Given the description of an element on the screen output the (x, y) to click on. 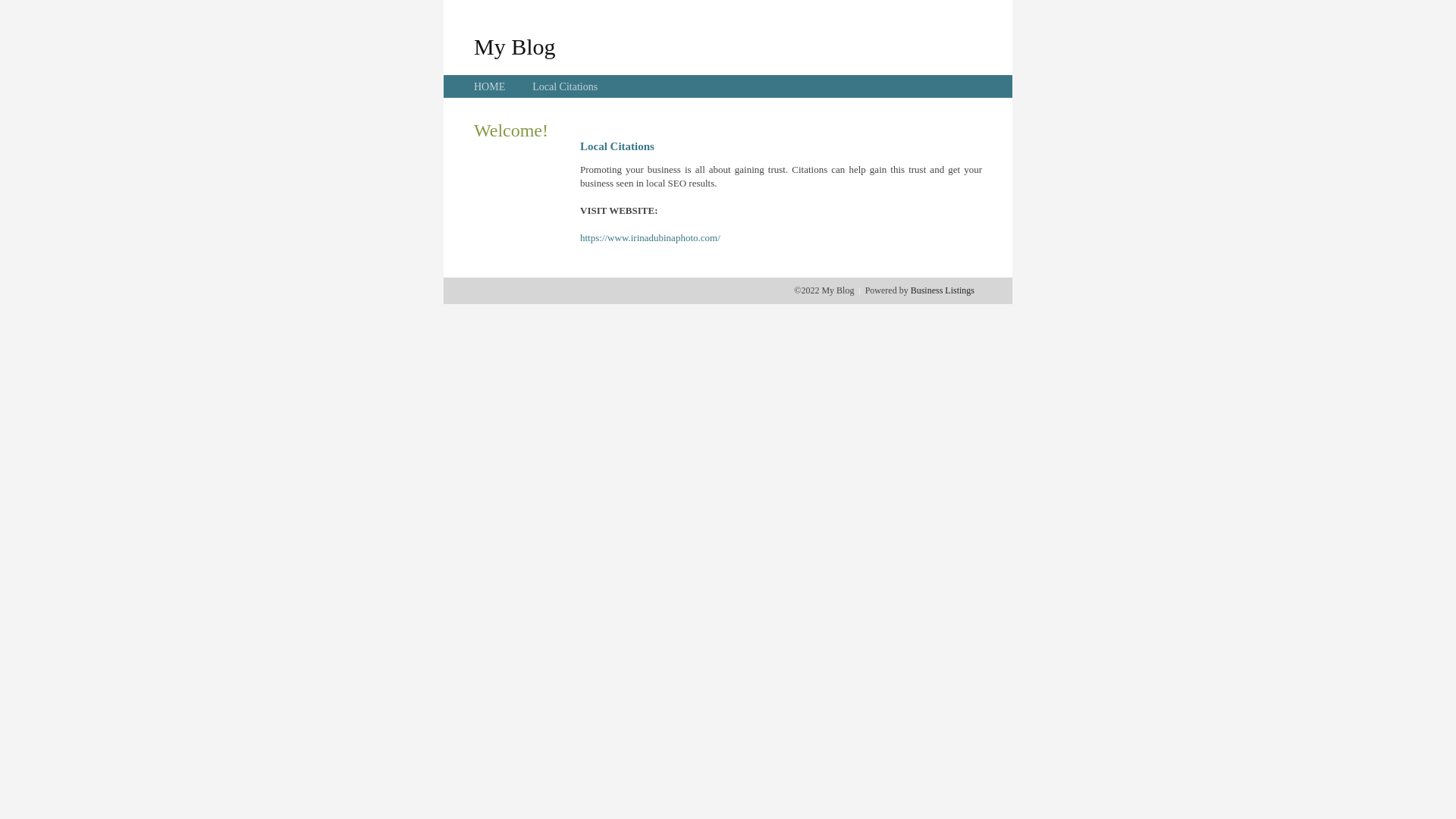
Business Listings Element type: text (942, 290)
My Blog Element type: text (514, 46)
Local Citations Element type: text (564, 86)
HOME Element type: text (489, 86)
https://www.irinadubinaphoto.com/ Element type: text (650, 237)
